Given the description of an element on the screen output the (x, y) to click on. 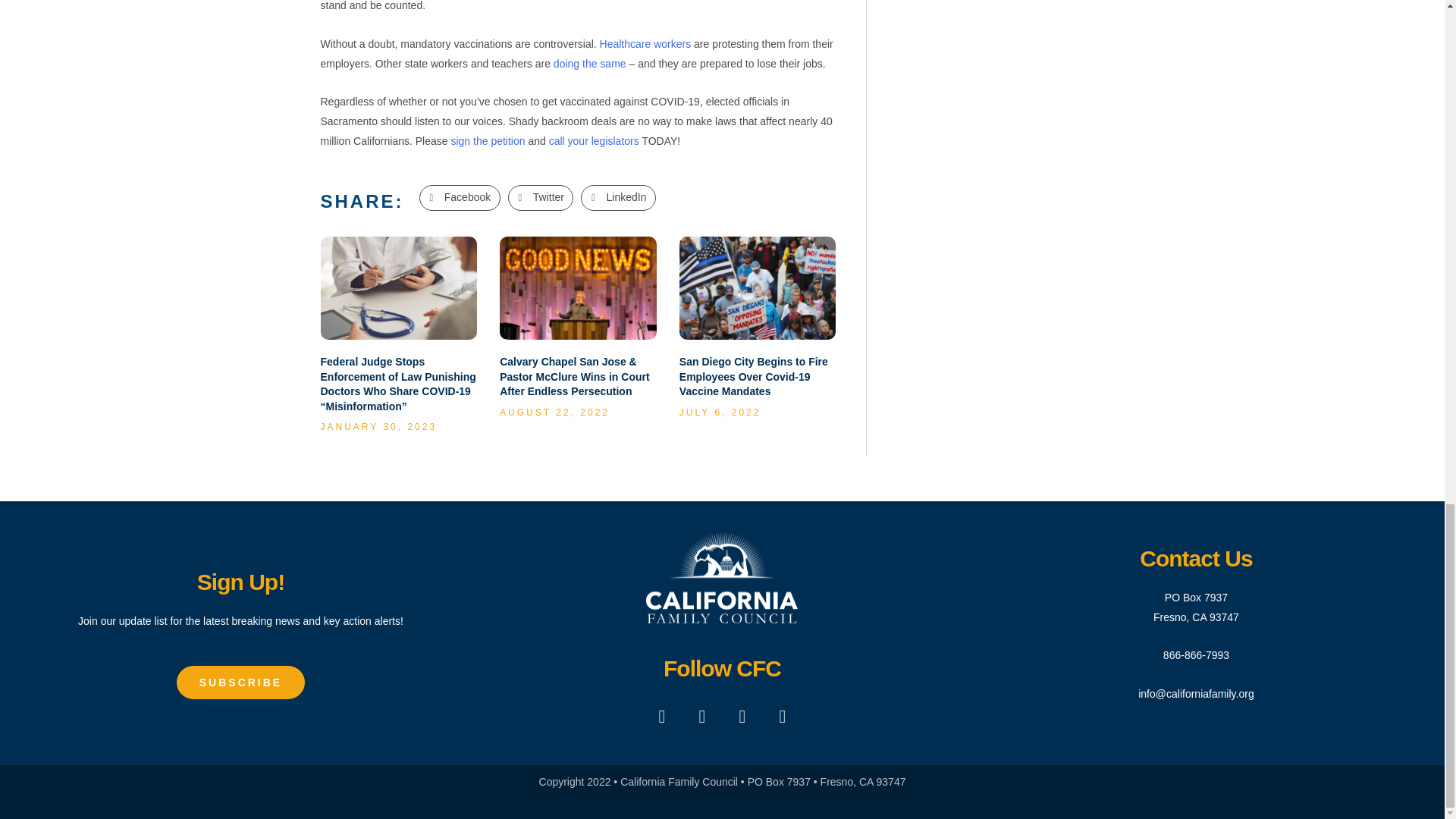
Healthcare workers (645, 43)
San Diego Blog - California Family Council (756, 287)
sign the petition (486, 141)
doing the same (588, 63)
call your legislators (593, 141)
